Given the description of an element on the screen output the (x, y) to click on. 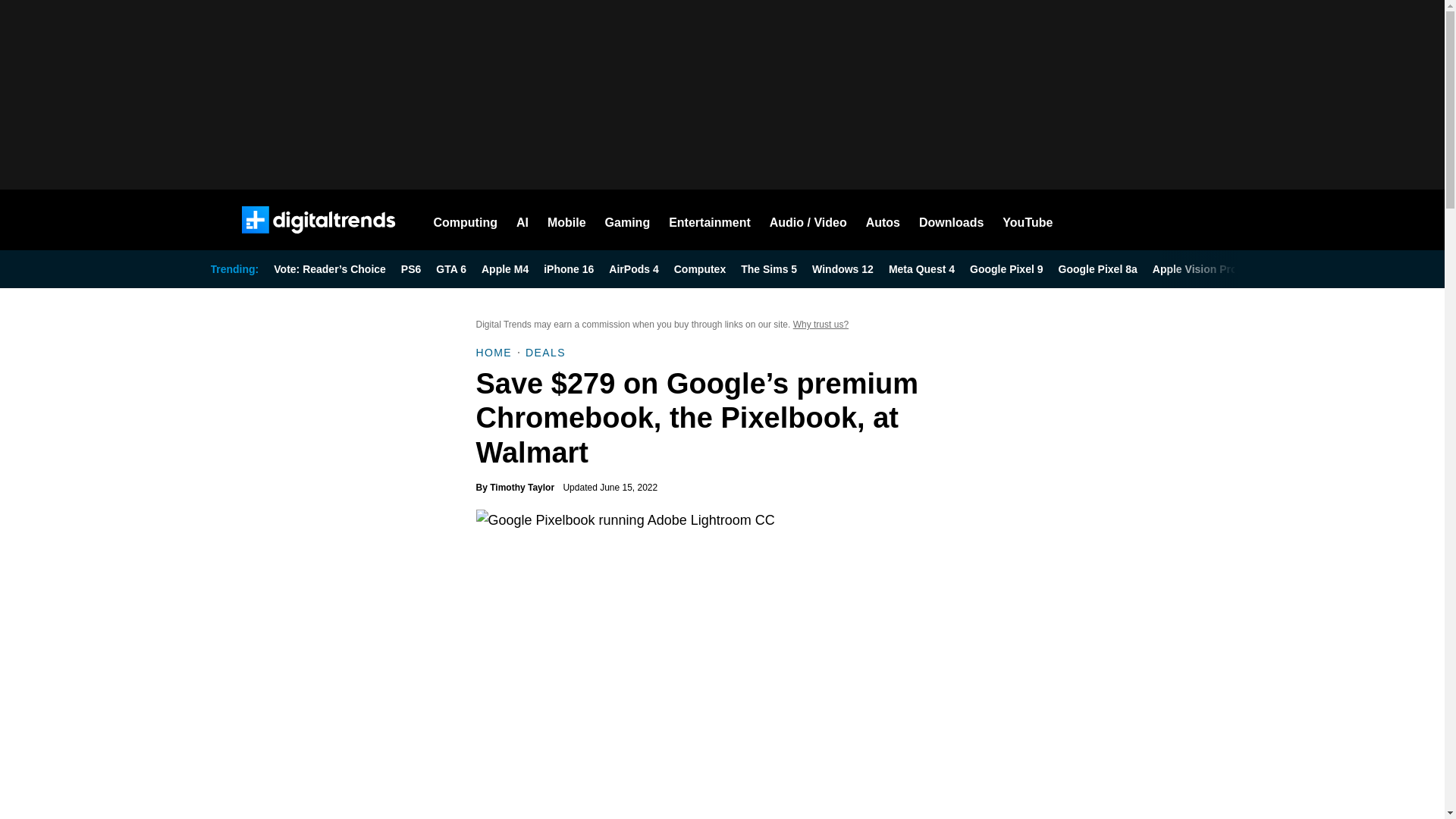
Downloads (951, 219)
Entertainment (709, 219)
Computing (465, 219)
